Given the description of an element on the screen output the (x, y) to click on. 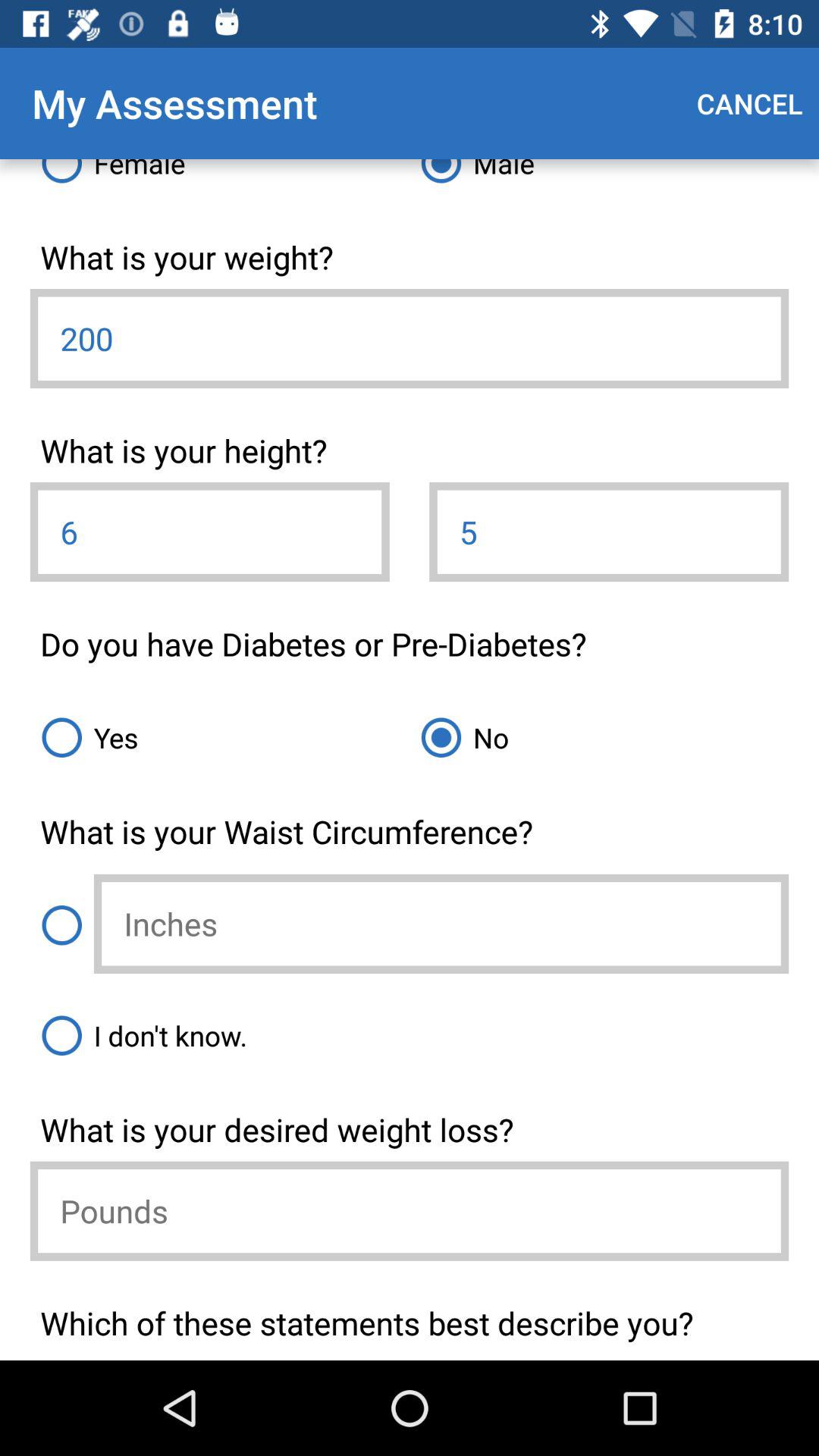
press cancel (749, 103)
